Given the description of an element on the screen output the (x, y) to click on. 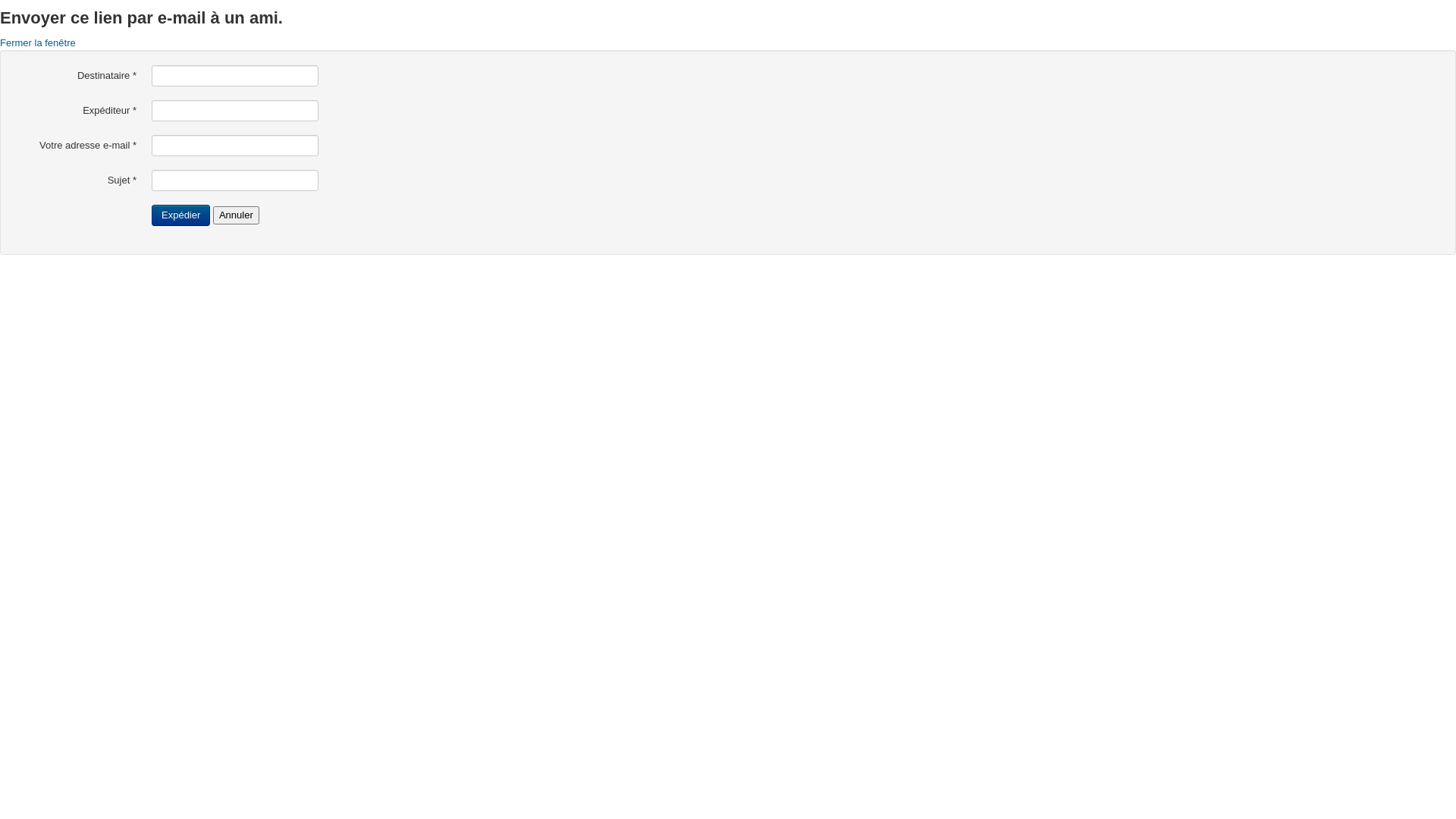
Annuler Element type: text (236, 215)
